Given the description of an element on the screen output the (x, y) to click on. 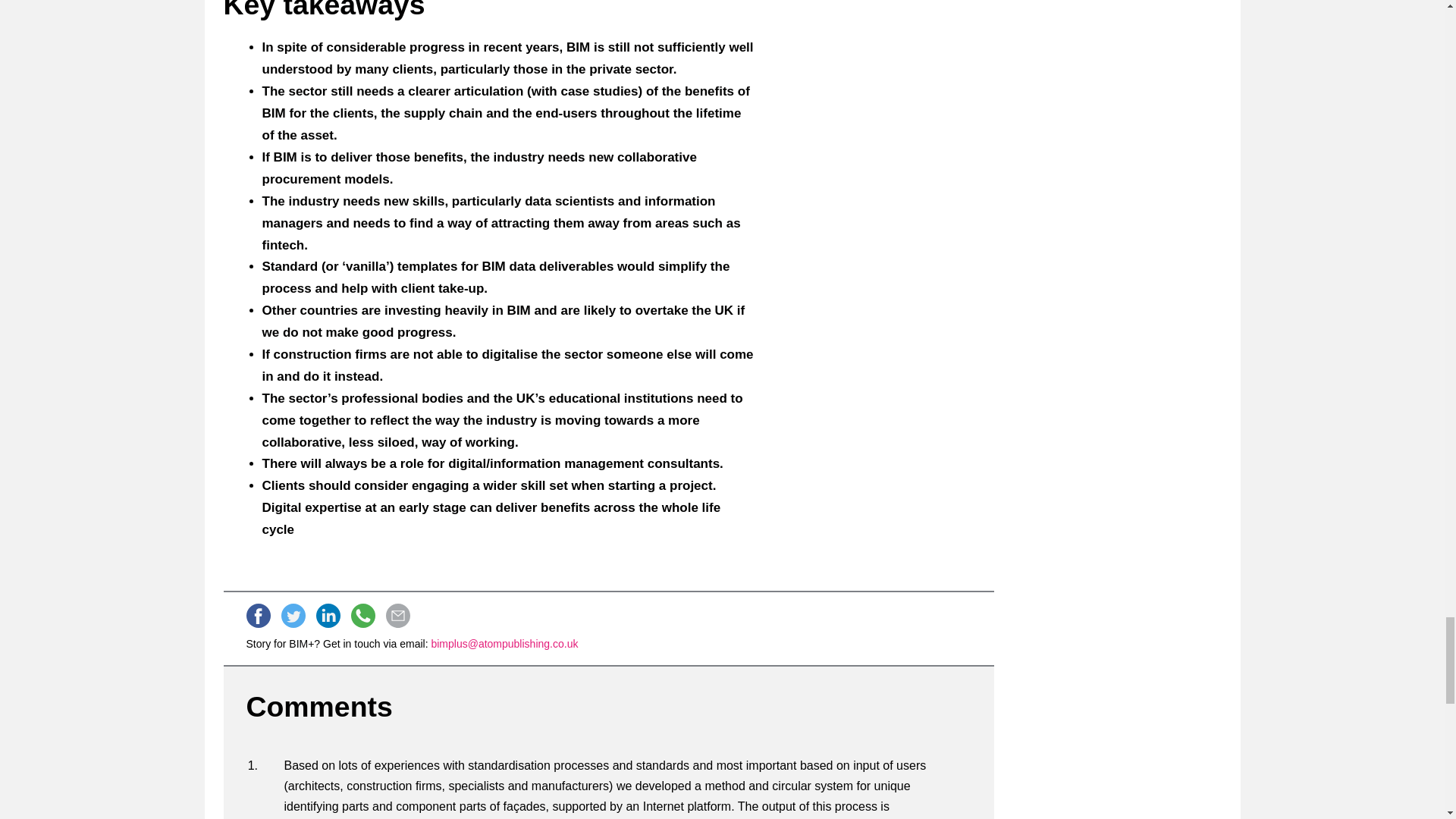
Share on LinkedIn (327, 615)
Share on WhatsApp (362, 615)
Tweet (292, 615)
Share on Facebook (257, 615)
Send email (397, 615)
